Given the description of an element on the screen output the (x, y) to click on. 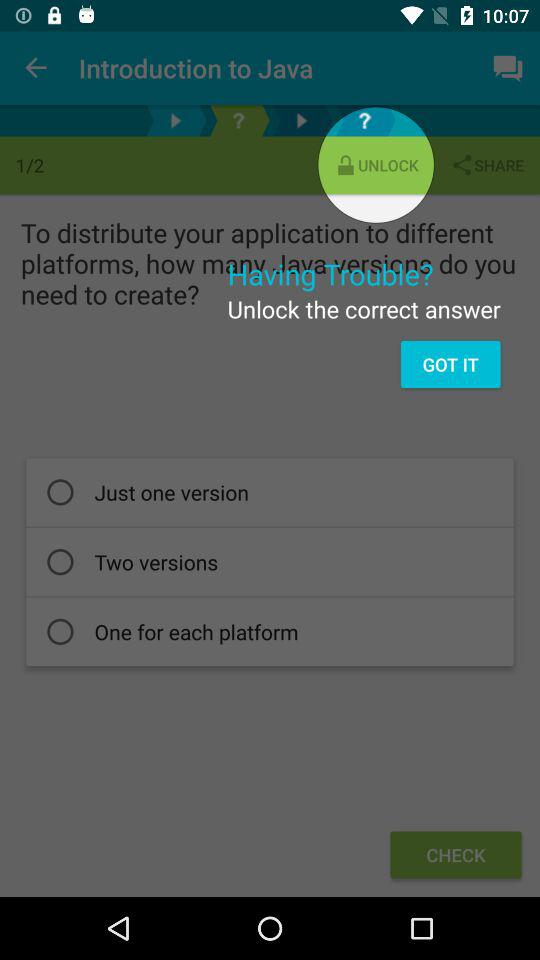
go to search (364, 120)
